Given the description of an element on the screen output the (x, y) to click on. 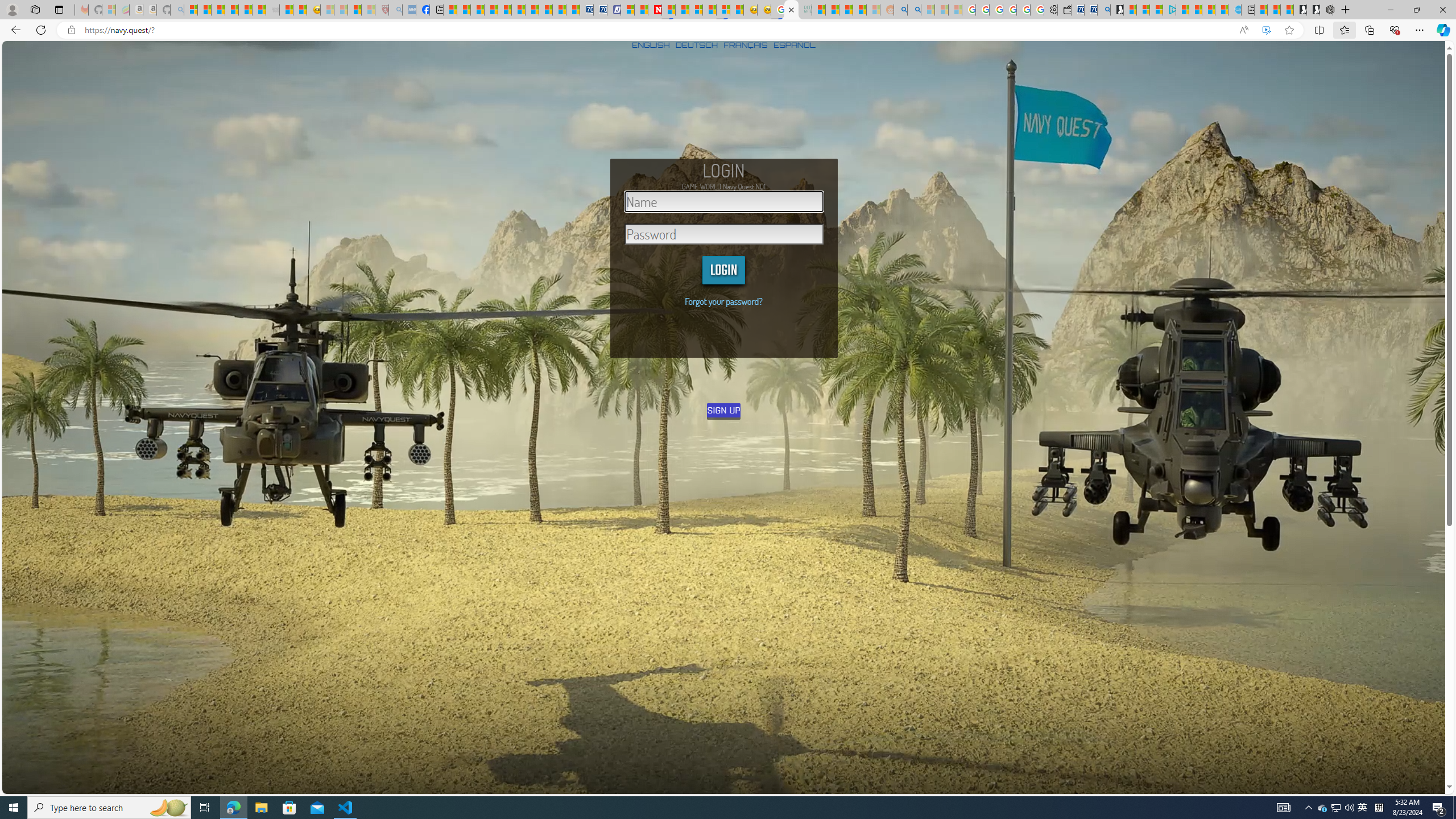
Cheap Hotels - Save70.com (599, 9)
Password (724, 233)
Student Loan Update: Forgiveness Program Ends This Month (858, 9)
Climate Damage Becomes Too Severe To Reverse (490, 9)
